Given the description of an element on the screen output the (x, y) to click on. 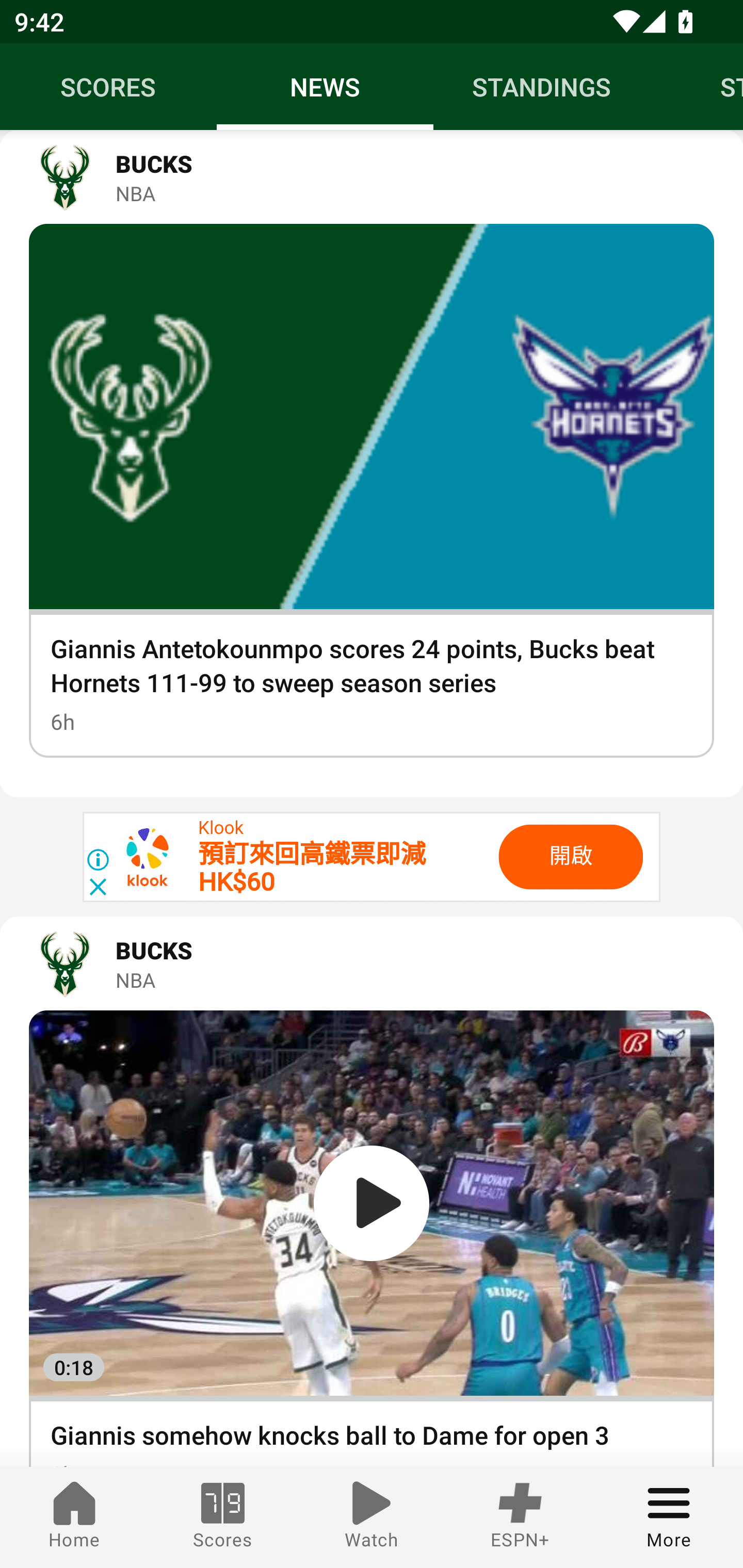
Scores SCORES (108, 86)
Standings STANDINGS (541, 86)
BUCKS NBA (371, 177)
開啟 Klook 預訂來回高鐵票即減 HK$60 開啟 Klook 預訂來回高鐵票即減
HK$60 (371, 857)
BUCKS NBA (371, 963)
Home (74, 1517)
Scores (222, 1517)
Watch (371, 1517)
ESPN+ (519, 1517)
